Given the description of an element on the screen output the (x, y) to click on. 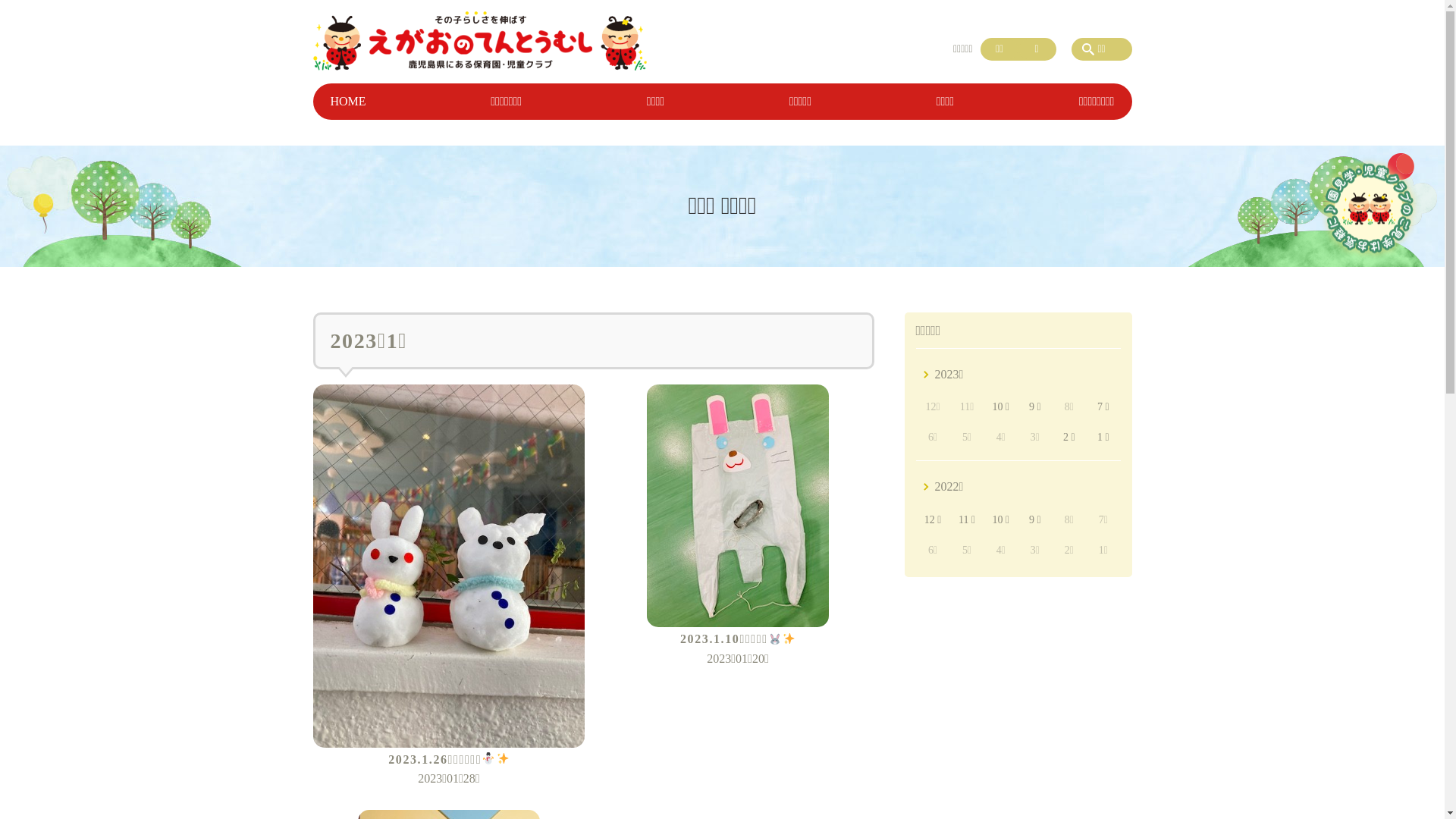
HOME Element type: text (347, 101)
